Given the description of an element on the screen output the (x, y) to click on. 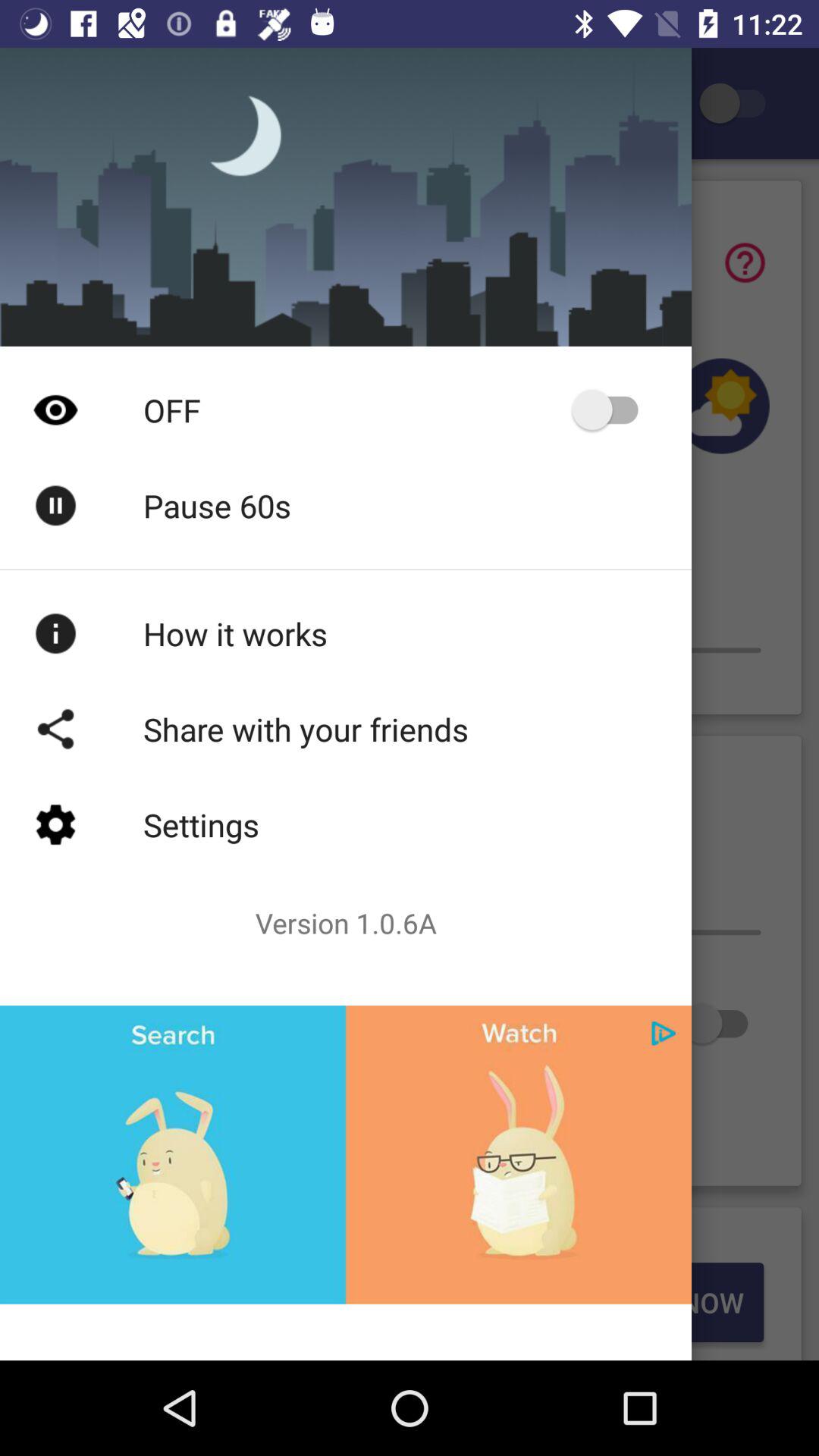
add button (663, 1033)
